Given the description of an element on the screen output the (x, y) to click on. 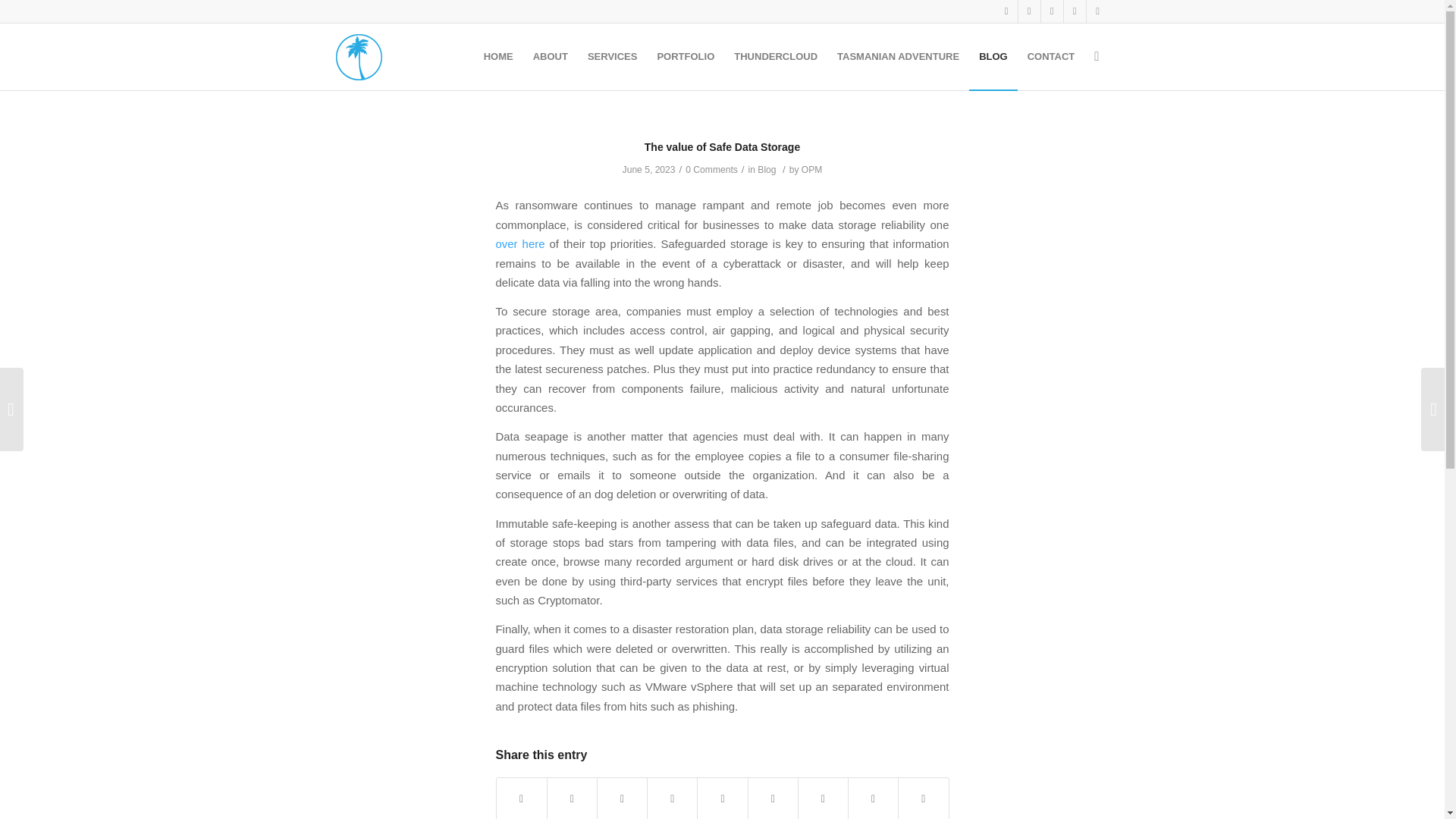
over here (520, 243)
Permanent Link: The value of Safe Data Storage (722, 146)
THUNDERCLOUD (775, 56)
Instagram (1005, 11)
Linkedin (1073, 11)
The value of Safe Data Storage (722, 146)
Facebook (1028, 11)
TASMANIAN ADVENTURE (898, 56)
0 Comments (711, 169)
Vimeo (1051, 11)
